Given the description of an element on the screen output the (x, y) to click on. 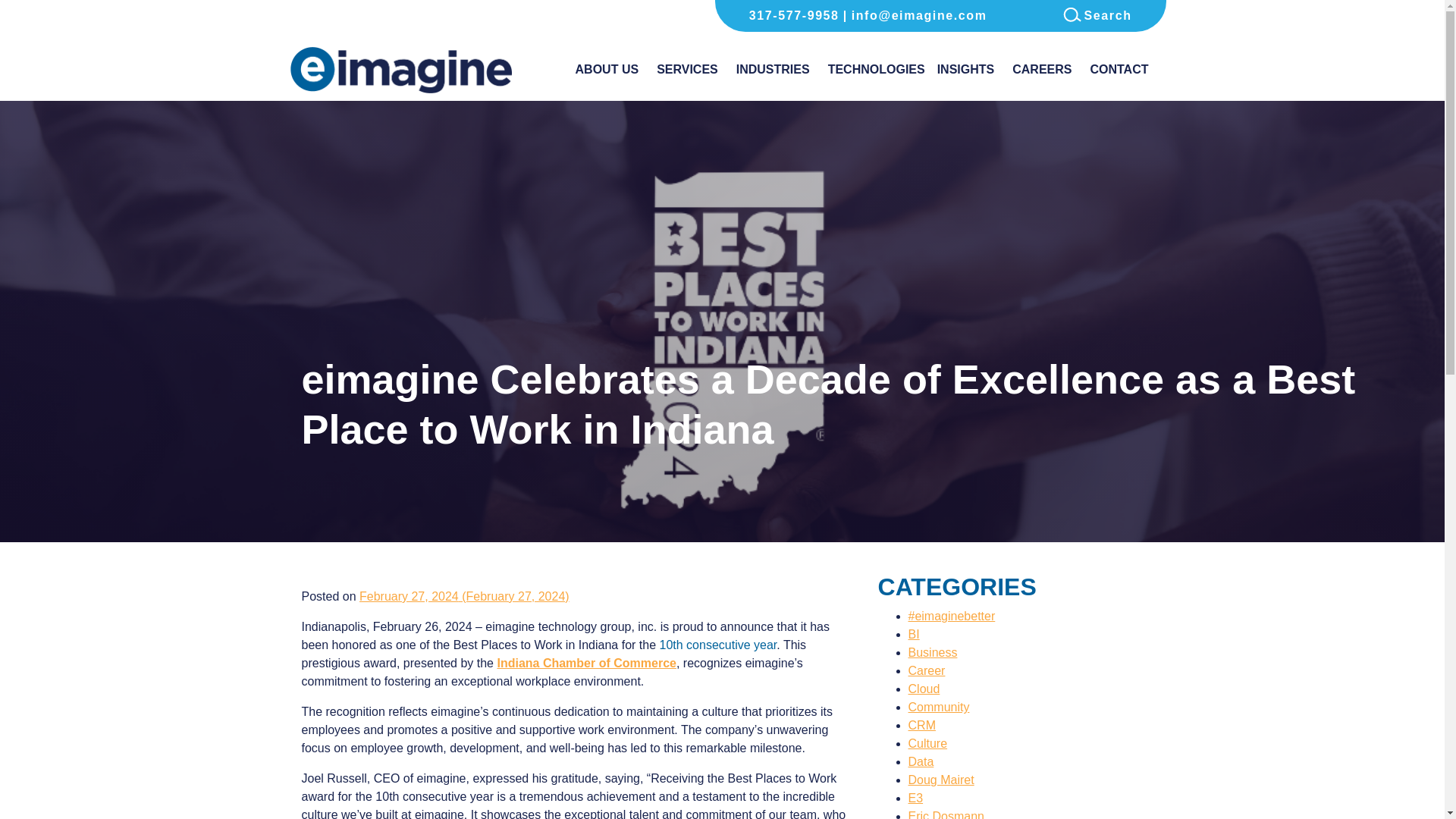
INSIGHTS (966, 73)
Services (686, 73)
SERVICES (686, 73)
About Us (607, 73)
TECHNOLOGIES (876, 73)
INDUSTRIES (772, 73)
Search (1097, 15)
ABOUT US (607, 73)
317-577-9958 (794, 15)
CAREERS (1041, 73)
